Given the description of an element on the screen output the (x, y) to click on. 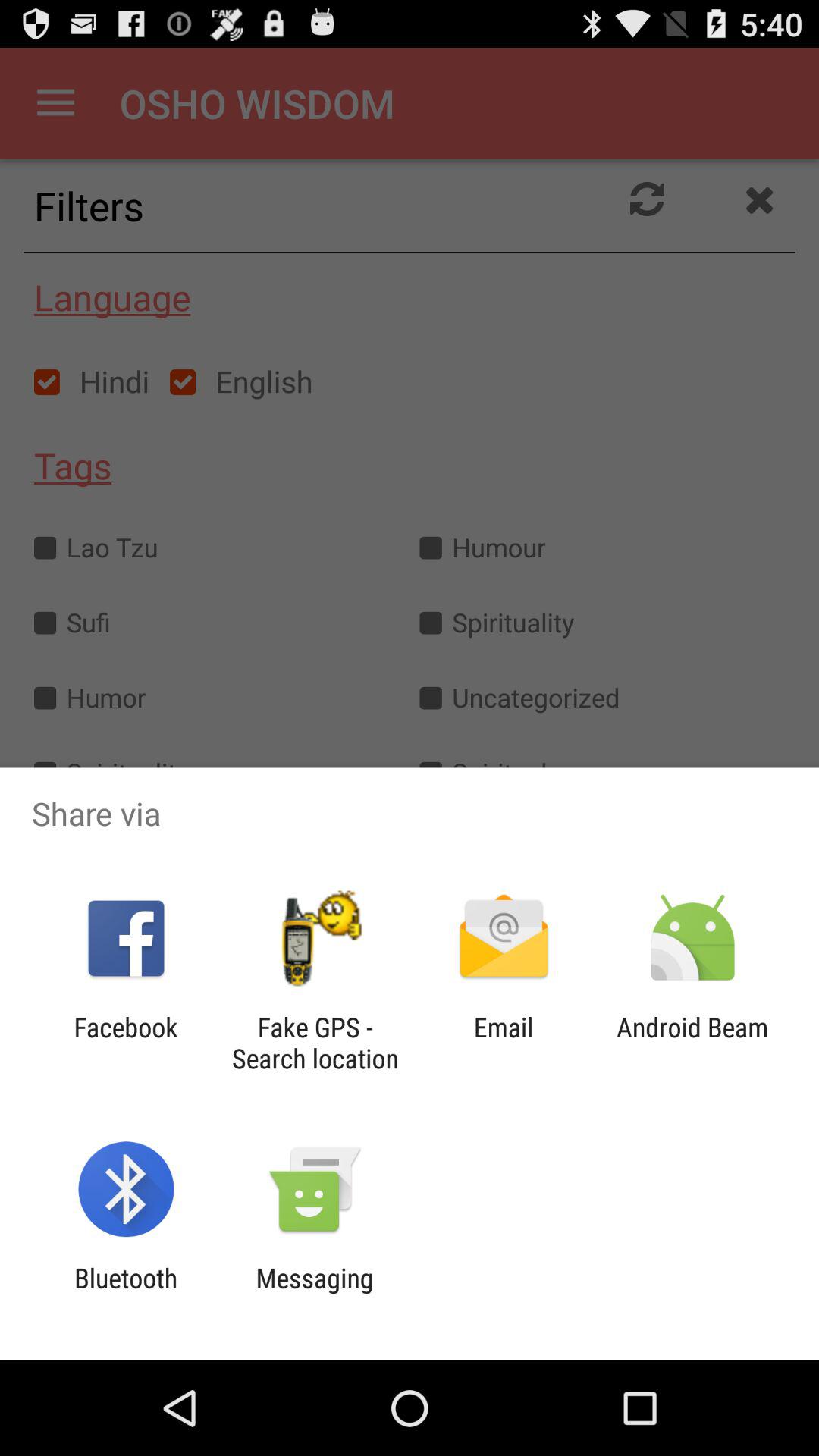
choose app next to the android beam app (503, 1042)
